Given the description of an element on the screen output the (x, y) to click on. 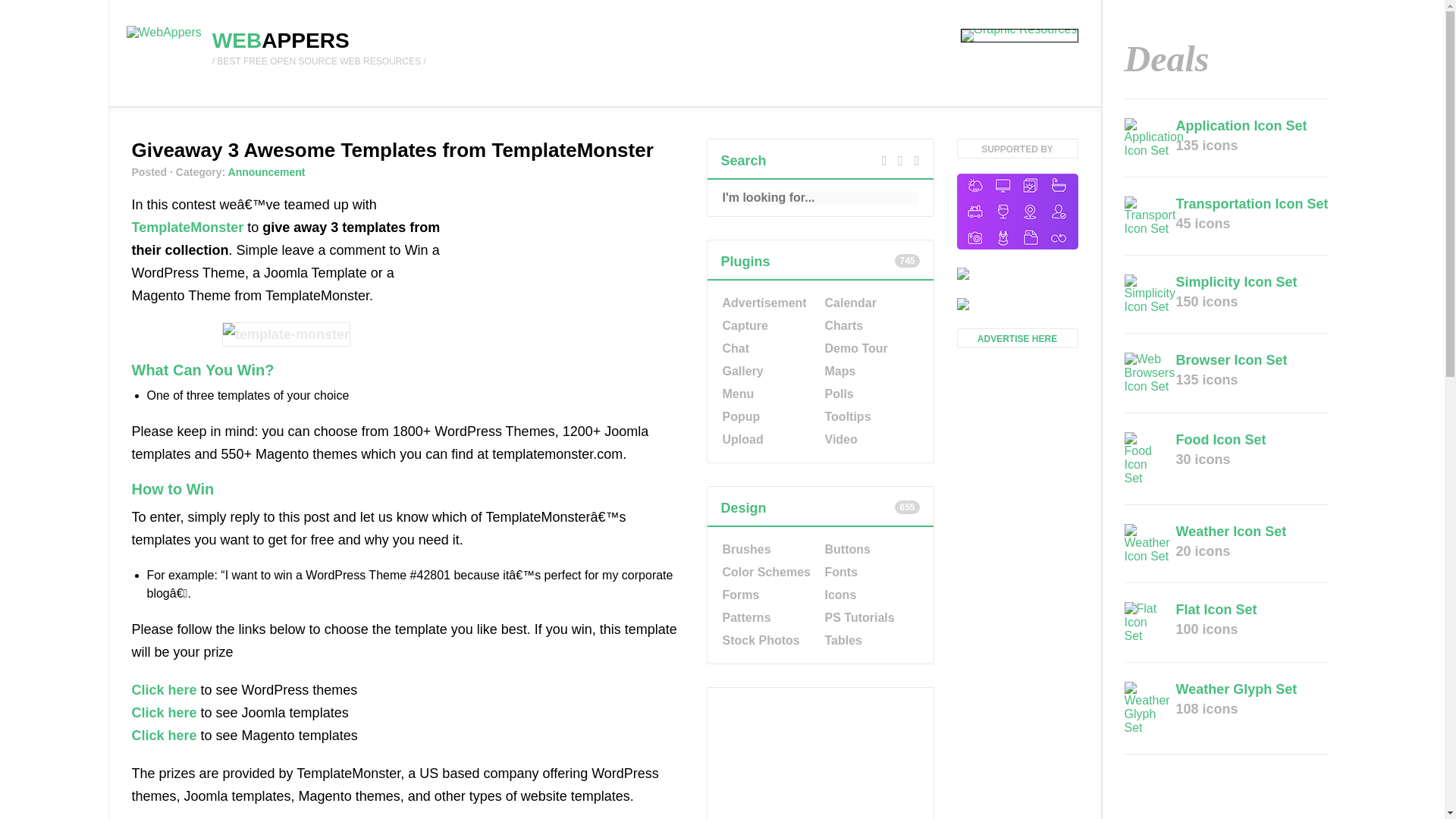
Flat Icons Pack (1017, 305)
template-monster (286, 334)
Icons (870, 594)
Click here (164, 712)
Fonts (870, 572)
Maps (870, 371)
Forms (767, 594)
Menu (767, 394)
Dreamtemplate (1017, 274)
Brushes (767, 549)
